Given the description of an element on the screen output the (x, y) to click on. 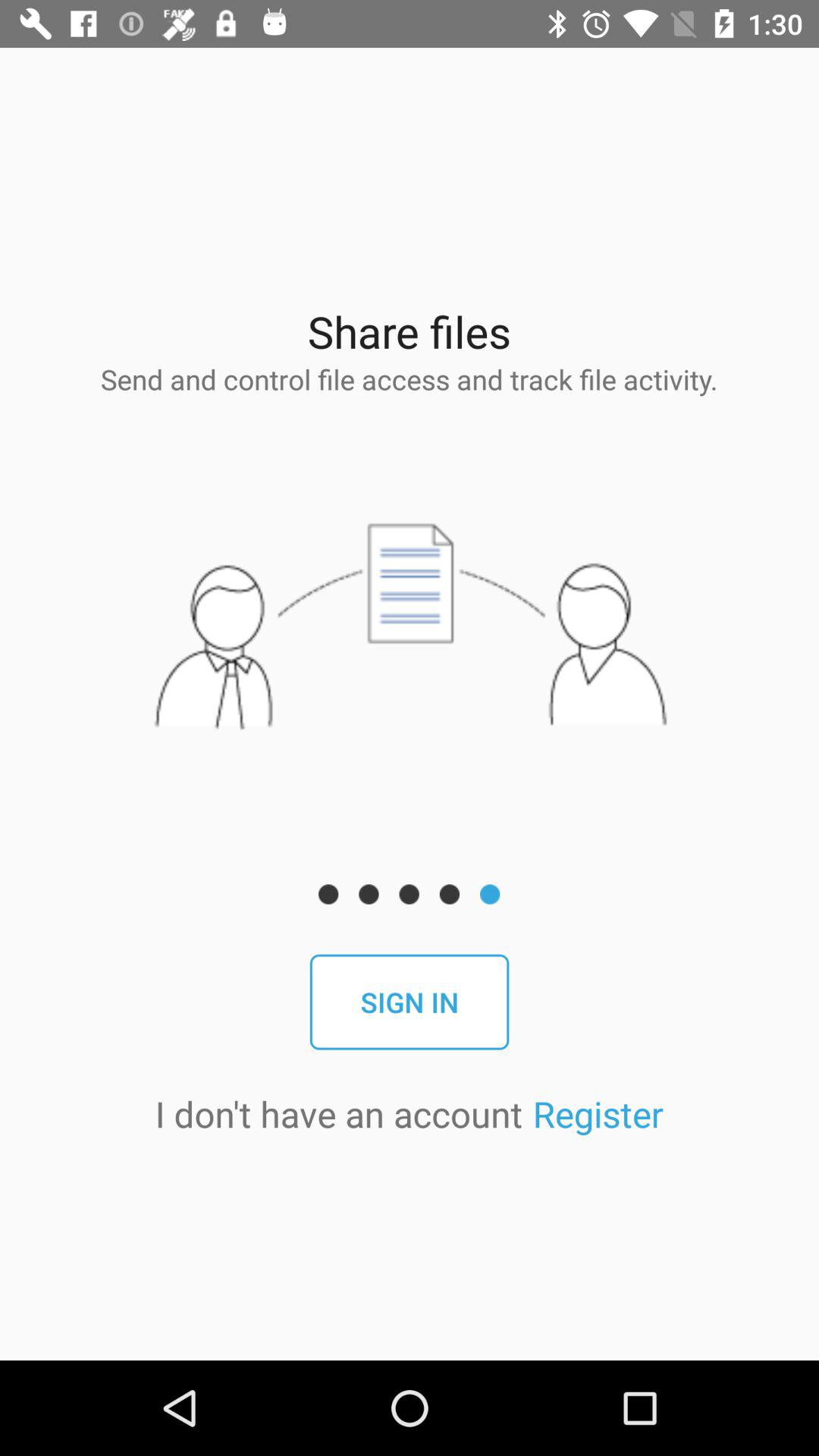
turn on the app above i don t item (409, 1001)
